Given the description of an element on the screen output the (x, y) to click on. 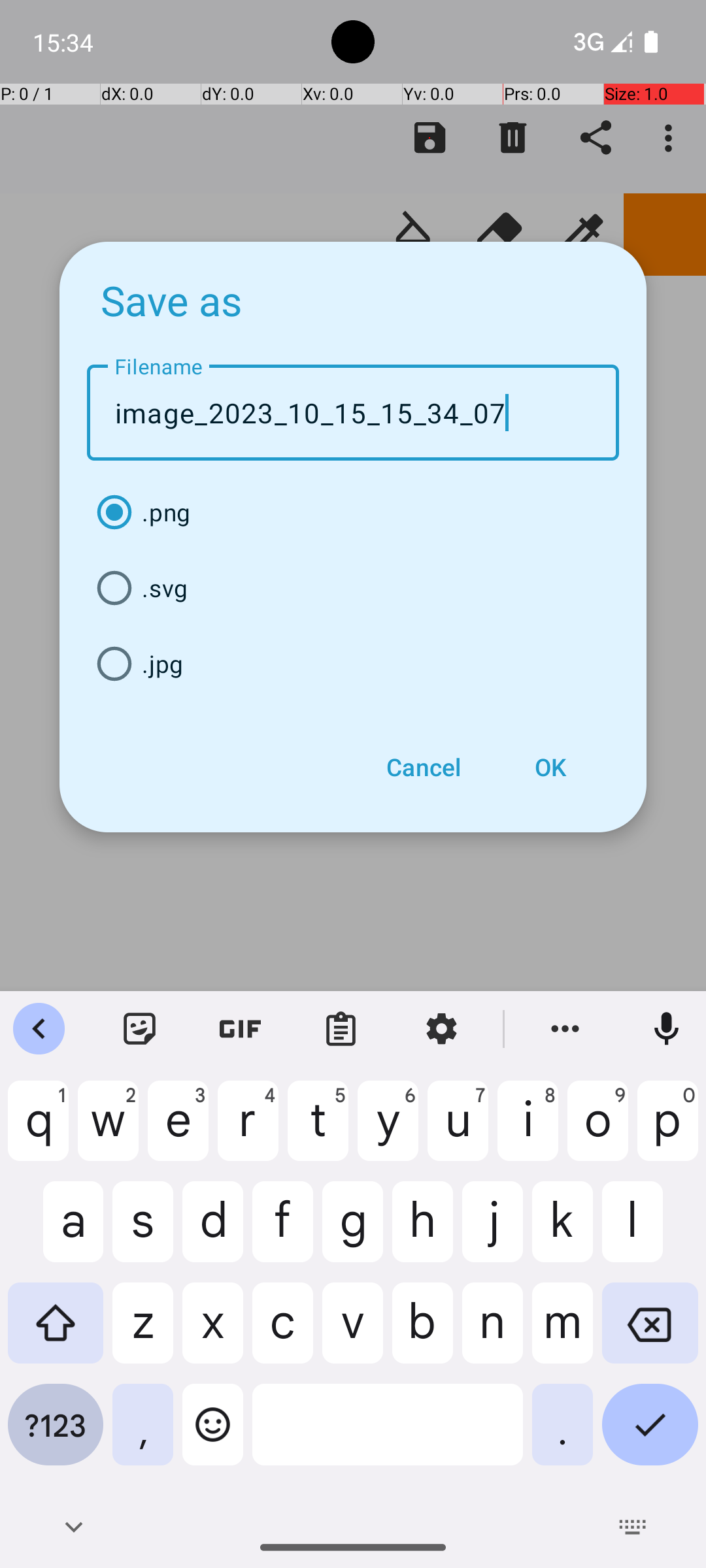
Save as Element type: android.widget.TextView (171, 299)
image_2023_10_15_15_34_07 Element type: android.widget.EditText (352, 412)
.png Element type: android.widget.RadioButton (352, 512)
.svg Element type: android.widget.RadioButton (352, 587)
.jpg Element type: android.widget.RadioButton (352, 663)
